Given the description of an element on the screen output the (x, y) to click on. 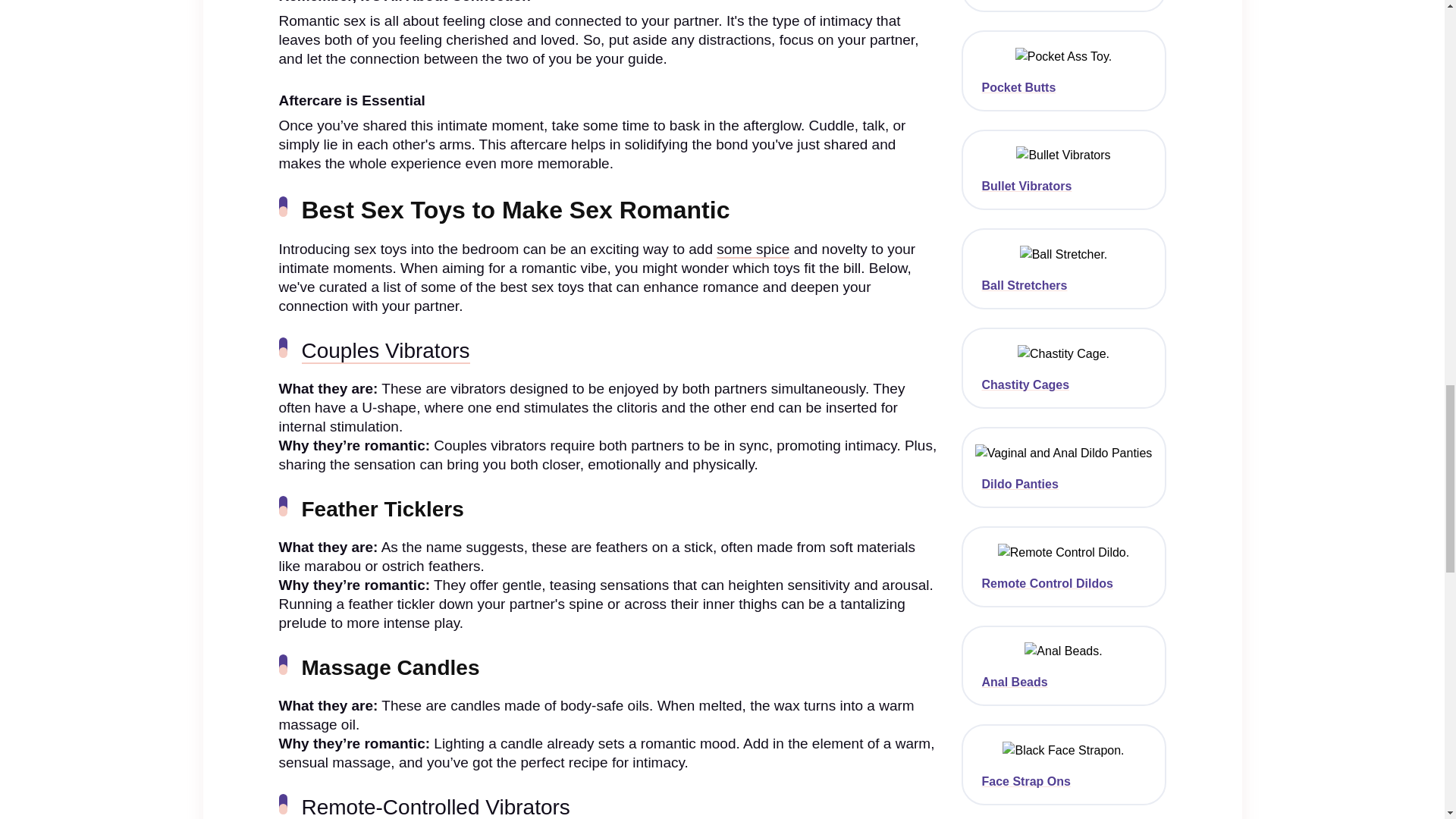
Anal Beads (1063, 682)
Chastity Cages (1063, 385)
Dildo Panties (1063, 484)
Couples Vibrators (385, 351)
Ball Stretchers (1063, 285)
Remote-Controlled Vibrators (435, 807)
Pocket Butts (1063, 88)
Remote Control Dildos (1063, 583)
some spice (752, 249)
Bullet Vibrators (1063, 186)
